Given the description of an element on the screen output the (x, y) to click on. 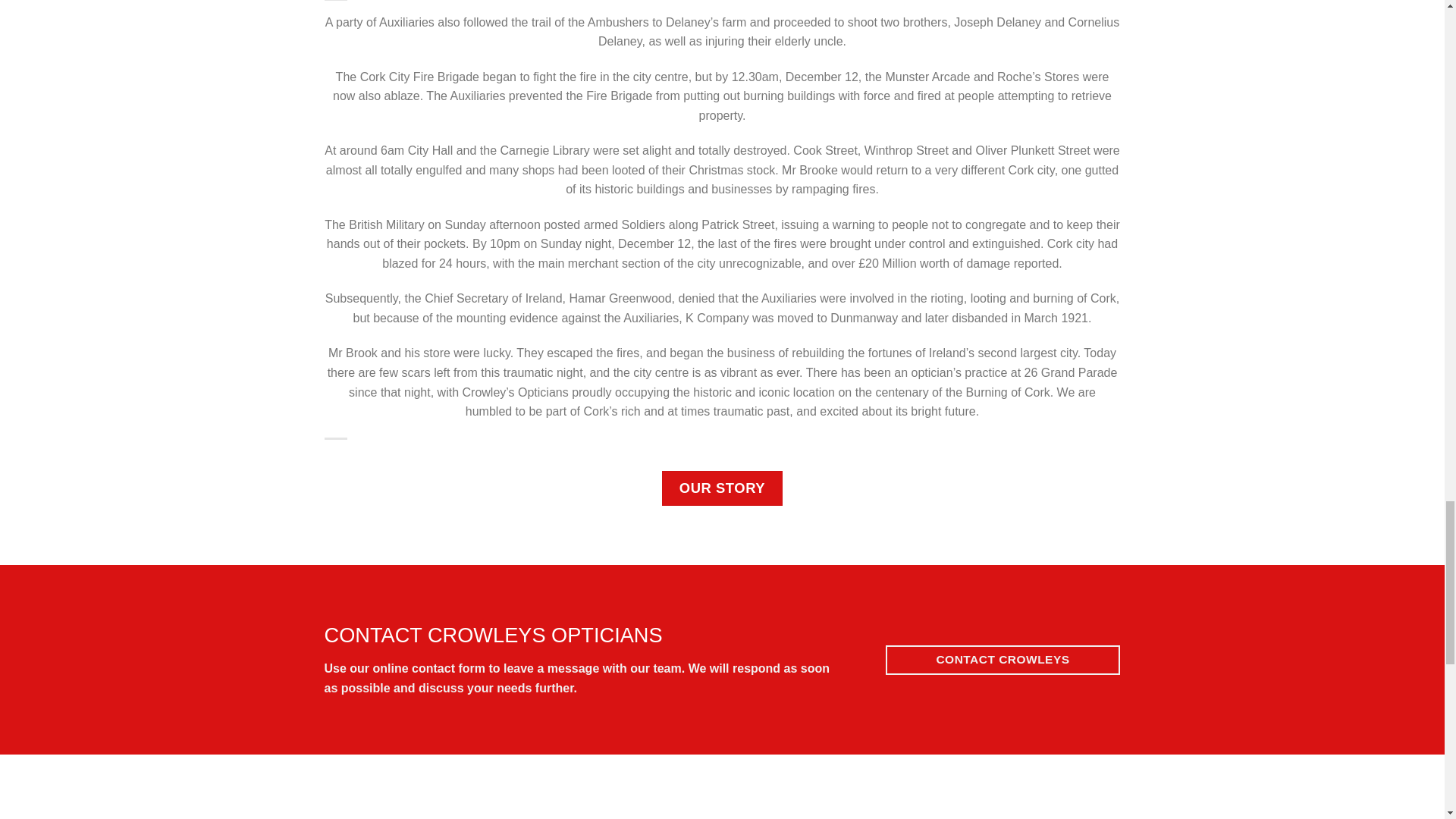
CONTACT CROWLEYS (1003, 659)
OUR STORY (722, 488)
